Given the description of an element on the screen output the (x, y) to click on. 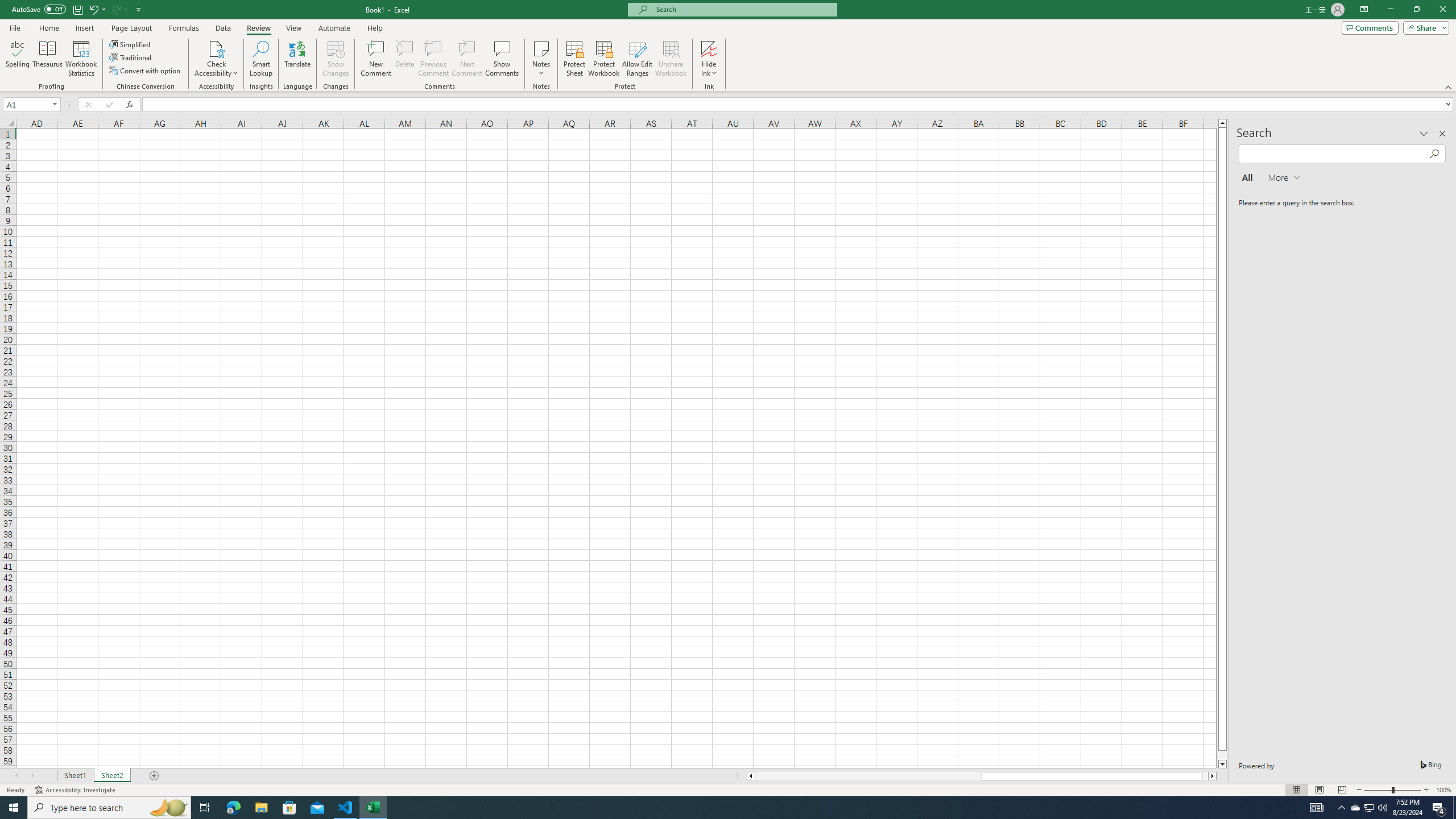
Protect Workbook... (603, 58)
Convert with option (145, 69)
Simplified (130, 44)
Protect Sheet... (574, 58)
Show Comments (501, 58)
Translate (297, 58)
